Given the description of an element on the screen output the (x, y) to click on. 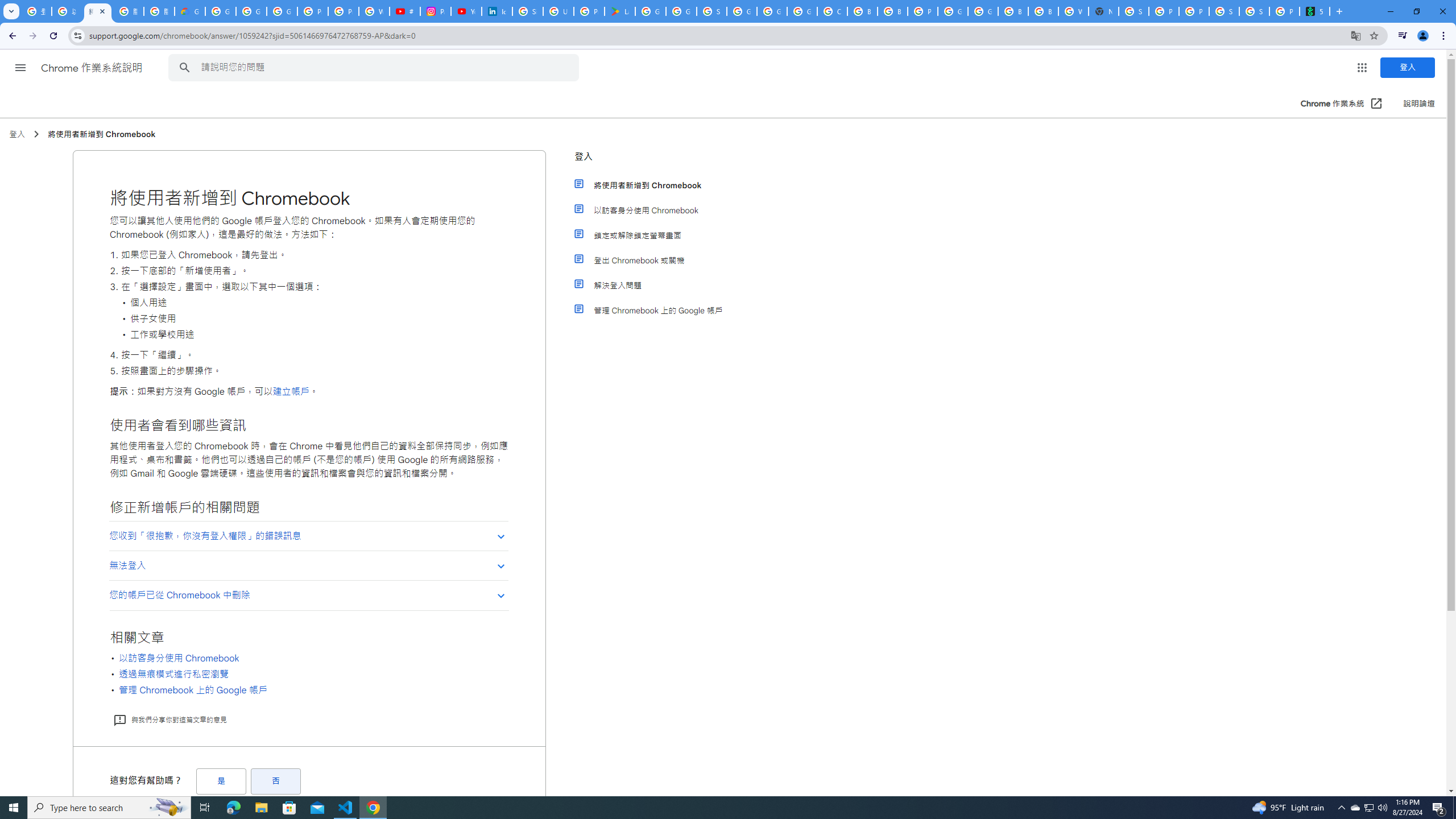
Google Cloud Platform (952, 11)
Translate this page (1355, 35)
Google Cloud Platform (771, 11)
Sign in - Google Accounts (711, 11)
YouTube Culture & Trends - On The Rise: Handcam Videos (465, 11)
Browse Chrome as a guest - Computer - Google Chrome Help (1042, 11)
Browse Chrome as a guest - Computer - Google Chrome Help (862, 11)
